Given the description of an element on the screen output the (x, y) to click on. 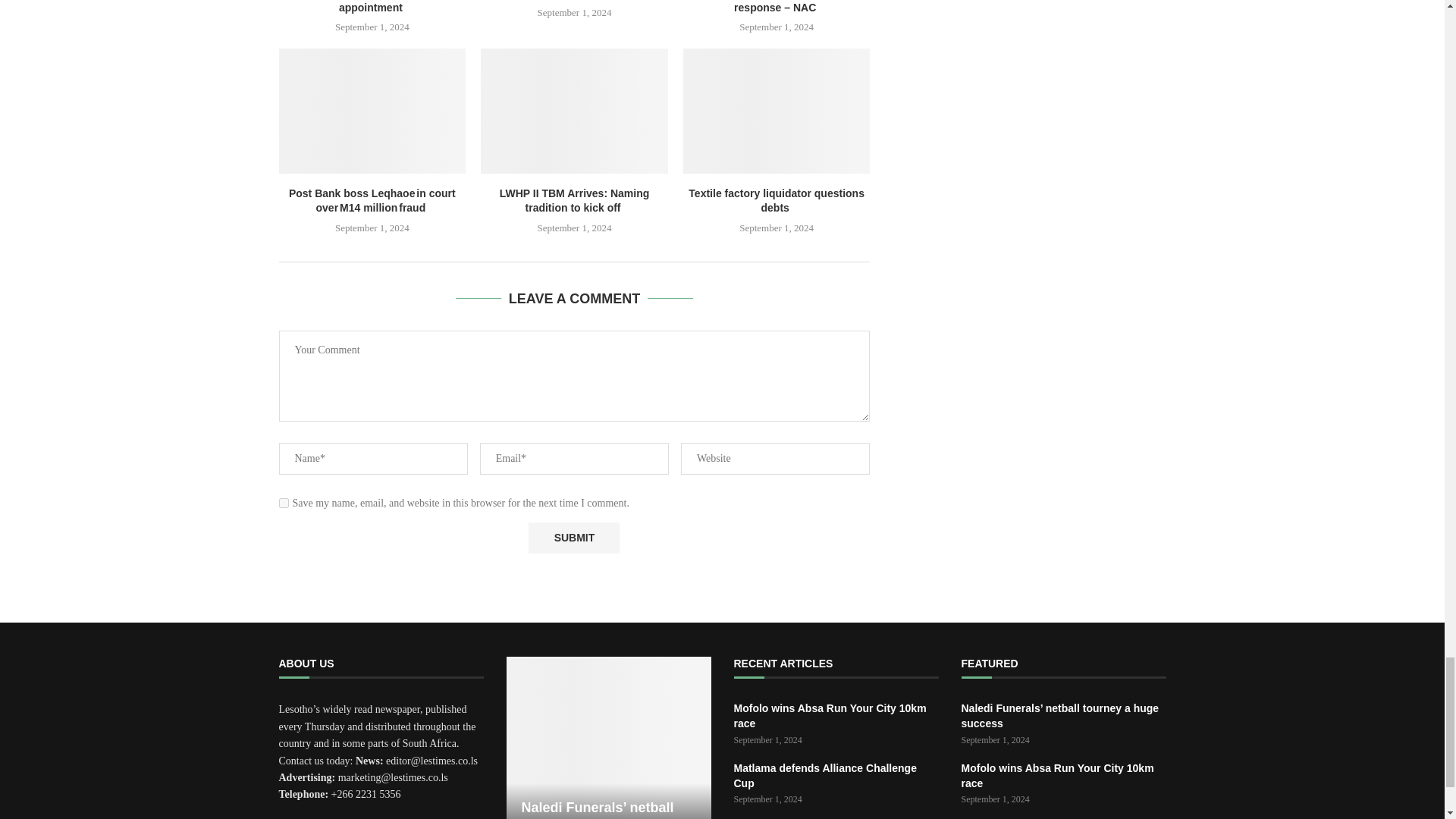
yes (283, 502)
Submit (574, 537)
